Given the description of an element on the screen output the (x, y) to click on. 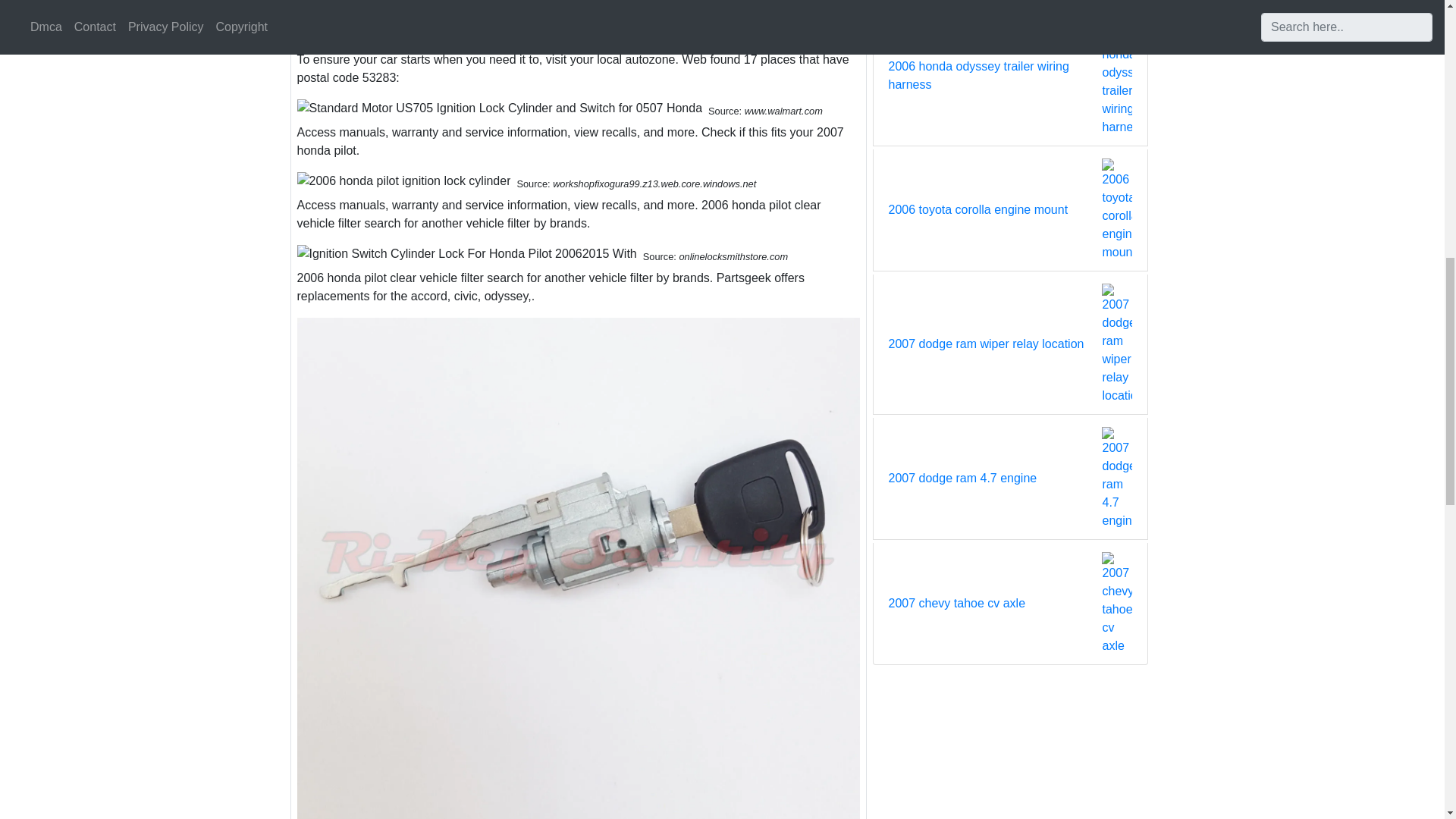
2007 dodge ram 4.7 engine (962, 478)
2006 honda odyssey trailer wiring harness (995, 75)
2007 chevy tahoe cv axle (957, 603)
2007 dodge ram wiper relay location (986, 343)
2006 toyota corolla engine mount (978, 209)
